Given the description of an element on the screen output the (x, y) to click on. 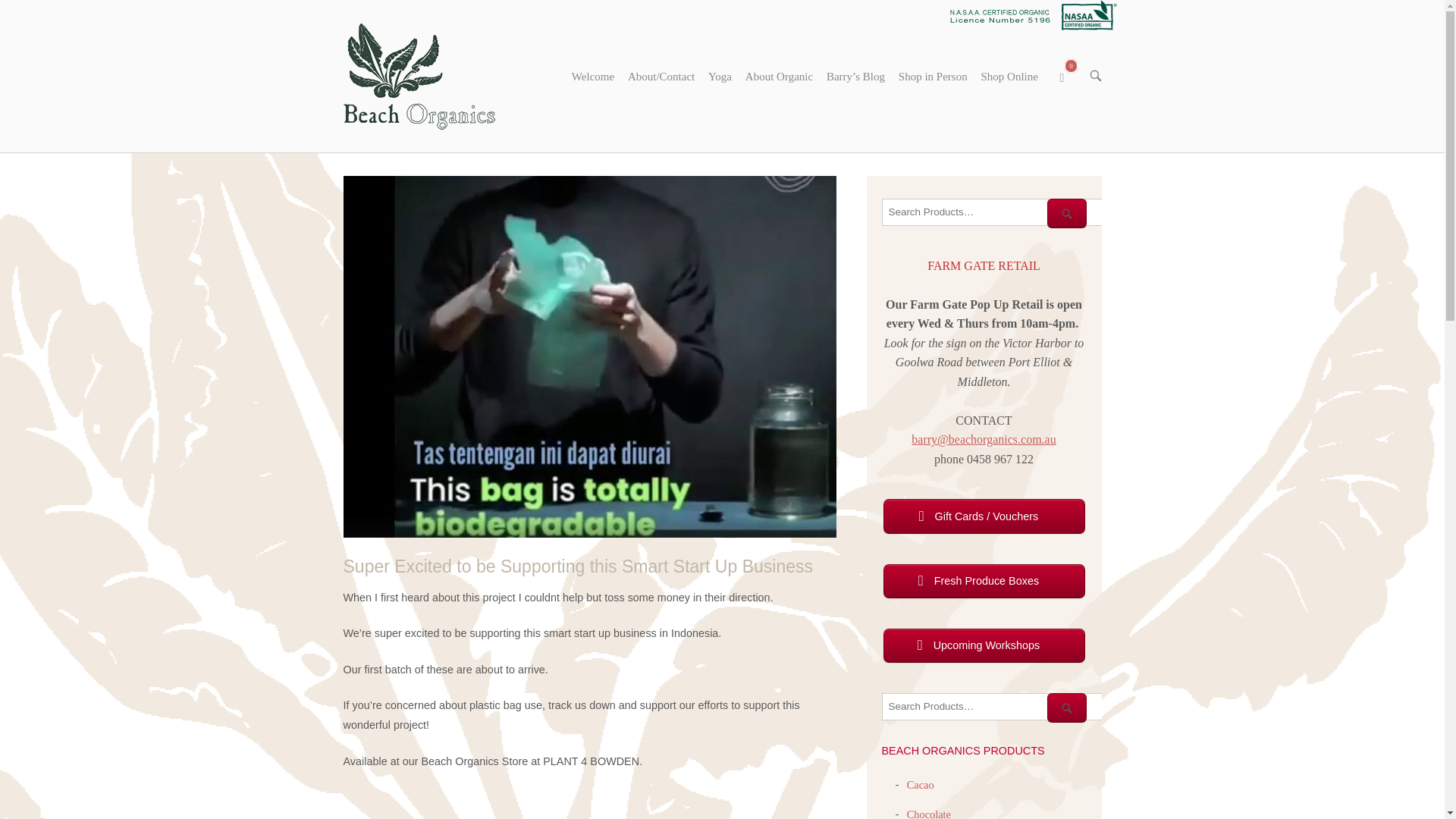
Cacao (916, 784)
Shop Online (1008, 75)
Fresh Produce Boxes (983, 581)
Search for: (994, 706)
Yoga (719, 75)
Search for: (1070, 76)
Shop in Person (994, 212)
Welcome (932, 75)
About Organic (593, 75)
